Given the description of an element on the screen output the (x, y) to click on. 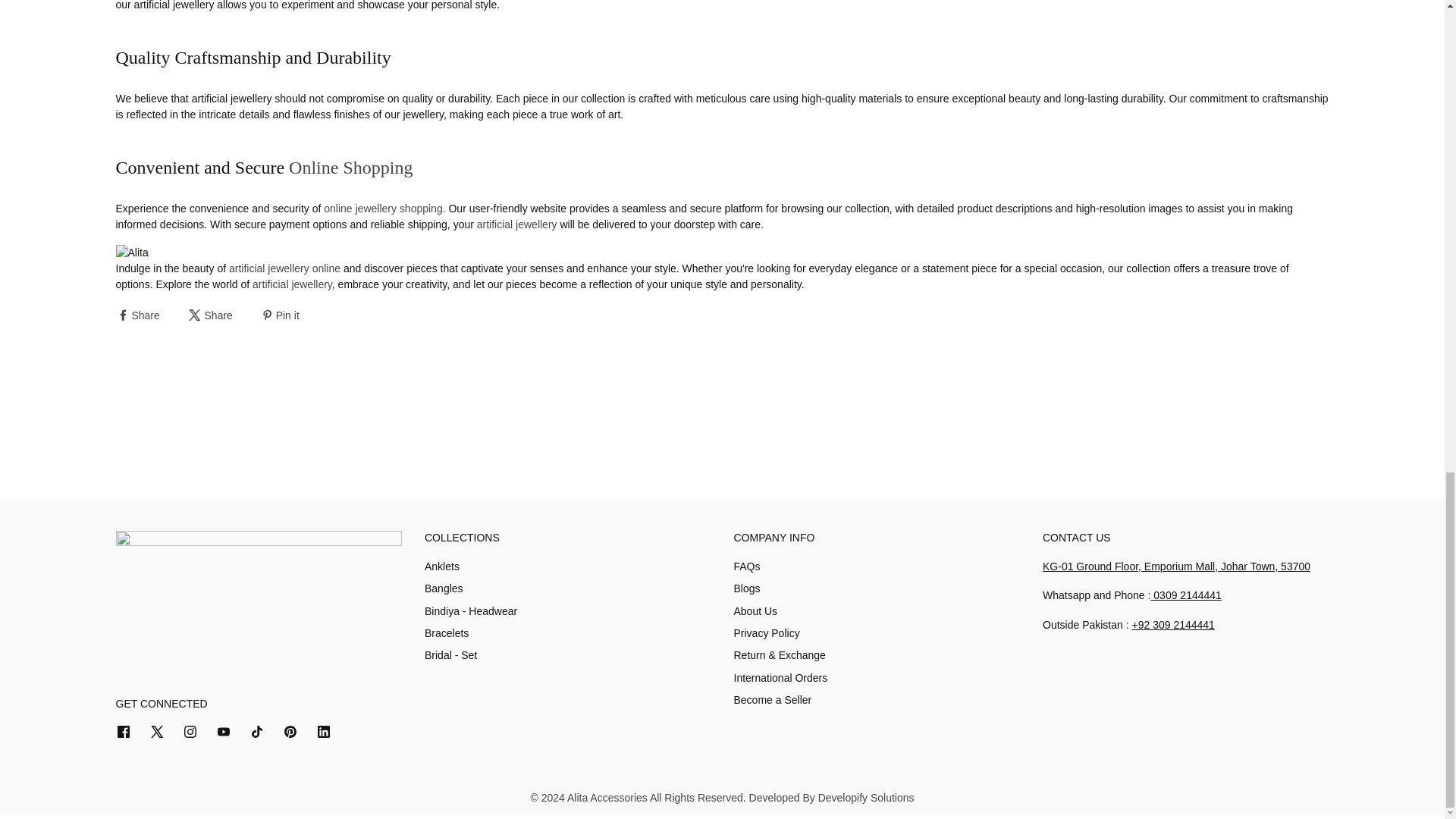
Alita Shop (350, 167)
Alita Shop (291, 284)
Alita Shop (284, 268)
Alita Shop (382, 208)
Alita Shop (517, 224)
